Given the description of an element on the screen output the (x, y) to click on. 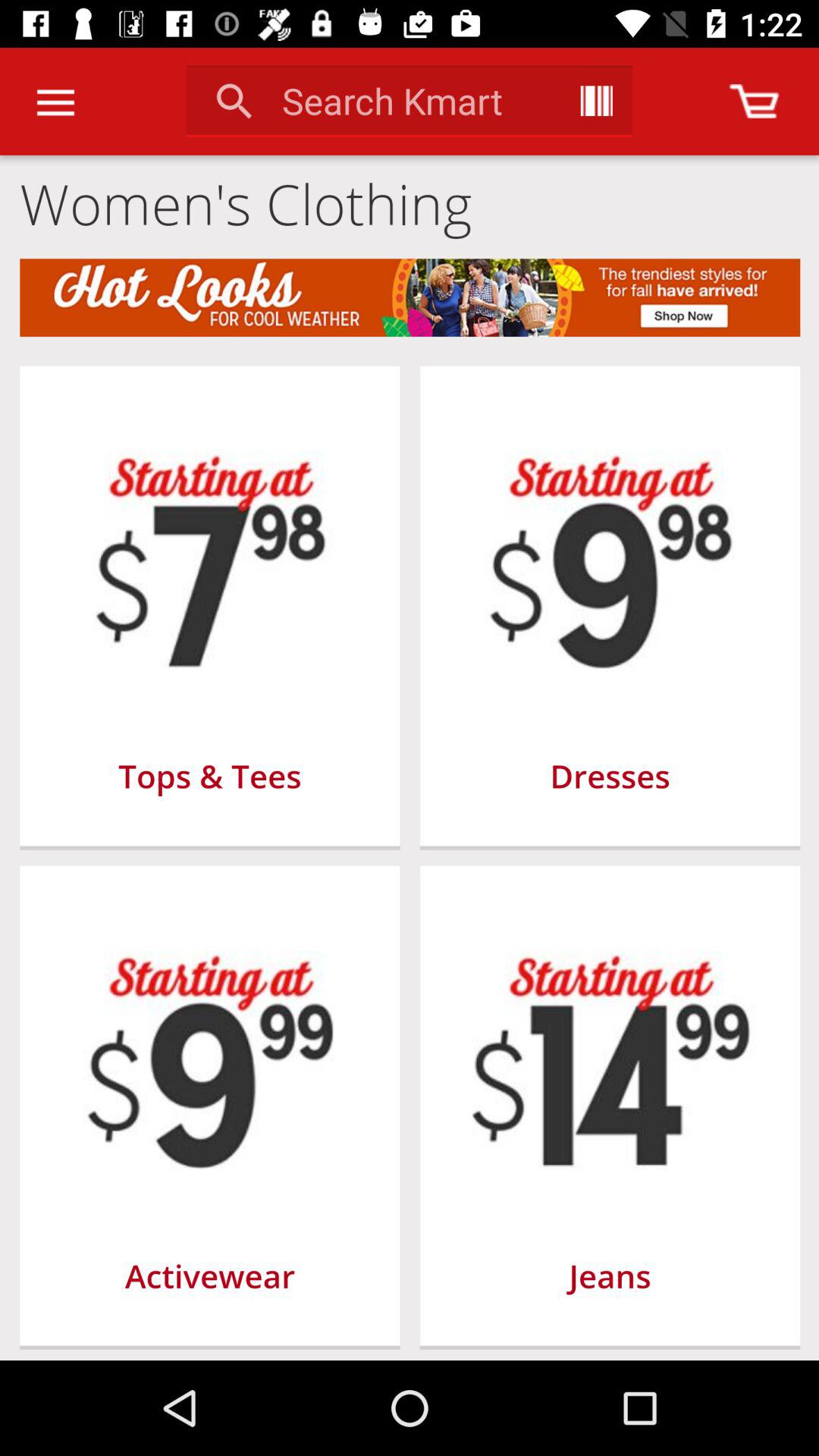
purchase option (754, 101)
